Given the description of an element on the screen output the (x, y) to click on. 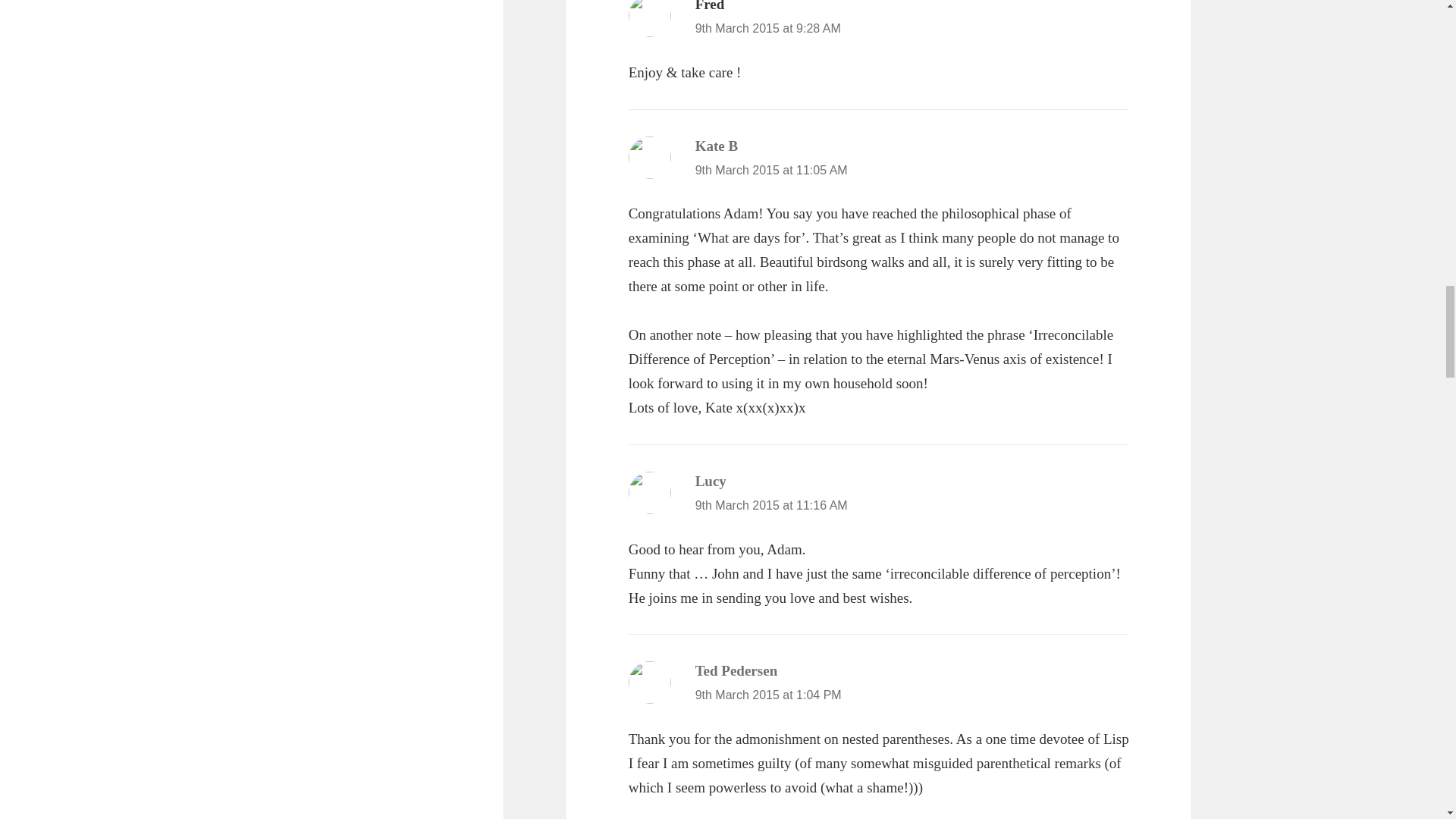
9th March 2015 at 11:05 AM (771, 169)
9th March 2015 at 1:04 PM (768, 694)
9th March 2015 at 9:28 AM (768, 28)
Fred (710, 6)
9th March 2015 at 11:16 AM (771, 504)
